Given the description of an element on the screen output the (x, y) to click on. 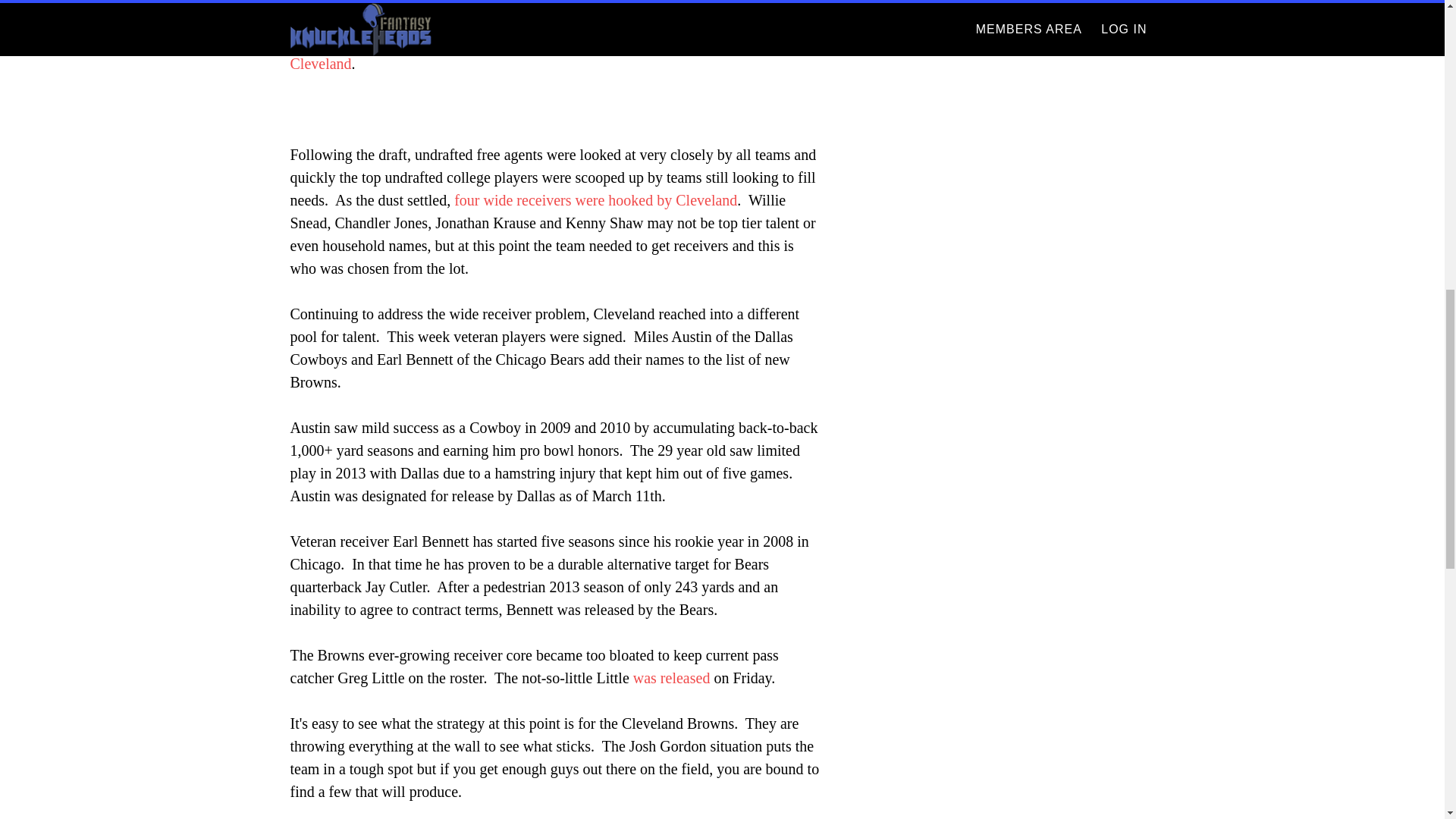
Introducing Johnny Cleveland (542, 52)
Greg Little Released By Cleveland (671, 677)
was released (671, 677)
four wide receivers were hooked by Cleveland (595, 199)
Johnny Cleveland (542, 52)
